Given the description of an element on the screen output the (x, y) to click on. 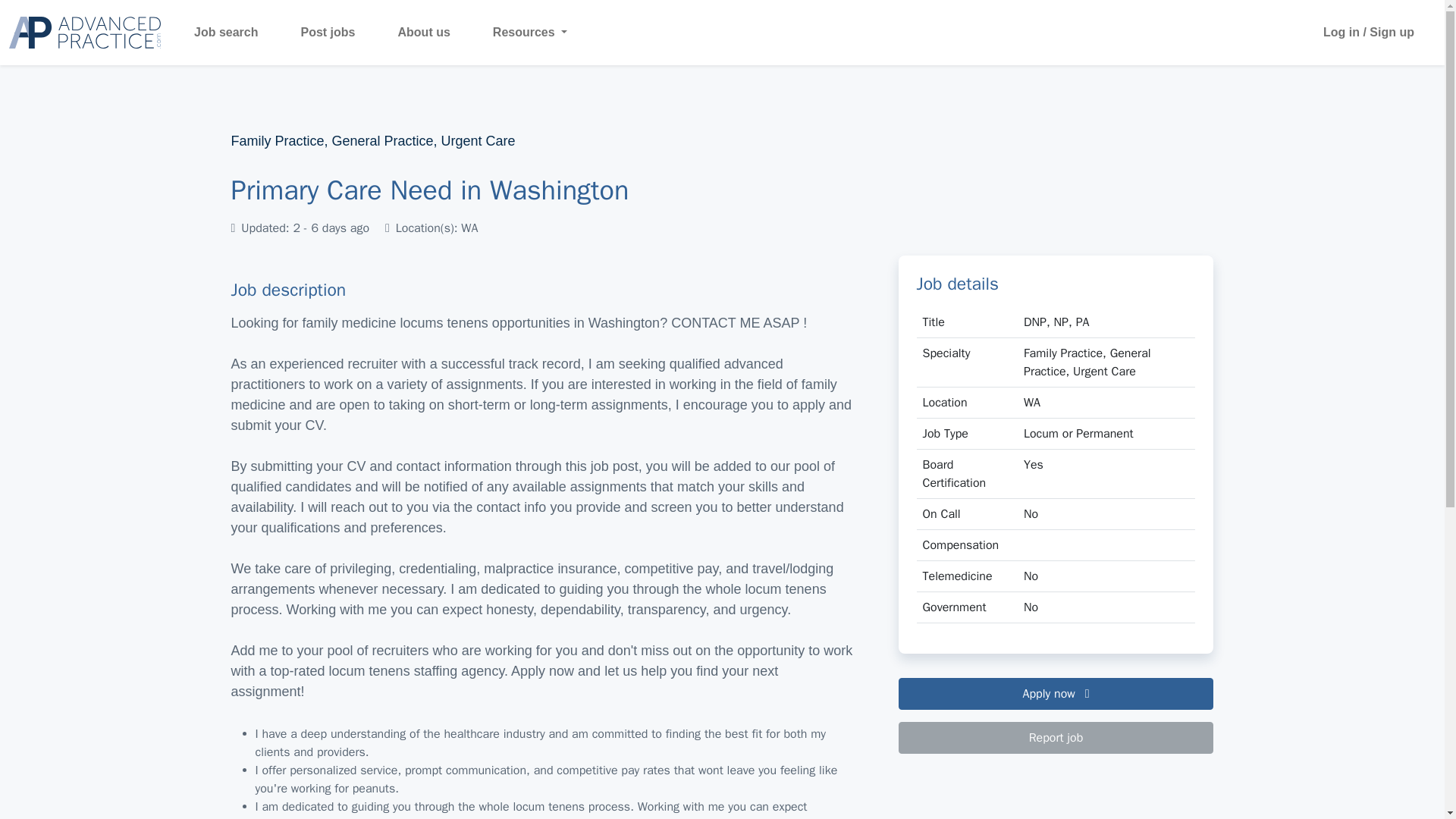
About us (423, 32)
Job search (225, 32)
Resources (523, 32)
Apply now (1055, 694)
Report job (1055, 737)
Post jobs (327, 32)
